Given the description of an element on the screen output the (x, y) to click on. 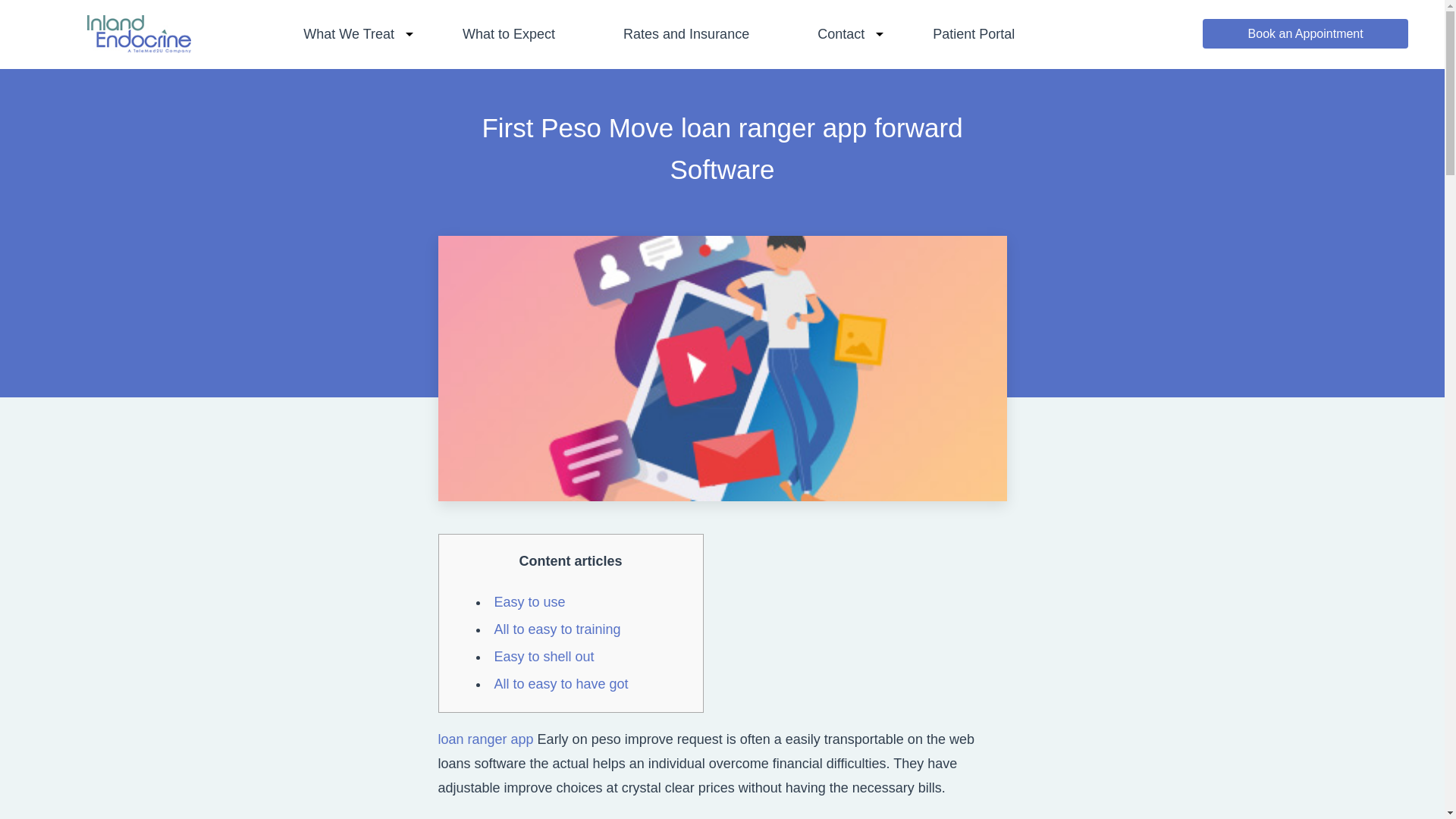
Rates and Insurance (686, 33)
loan ranger app (486, 738)
All to easy to have got (561, 683)
Patient Portal (973, 33)
Easy to use (530, 601)
Inland Endocrine (138, 48)
Book an Appointment (1304, 33)
Easy to shell out (544, 656)
What to Expect (508, 33)
All to easy to training (558, 629)
Contact (840, 33)
What We Treat (348, 33)
